Given the description of an element on the screen output the (x, y) to click on. 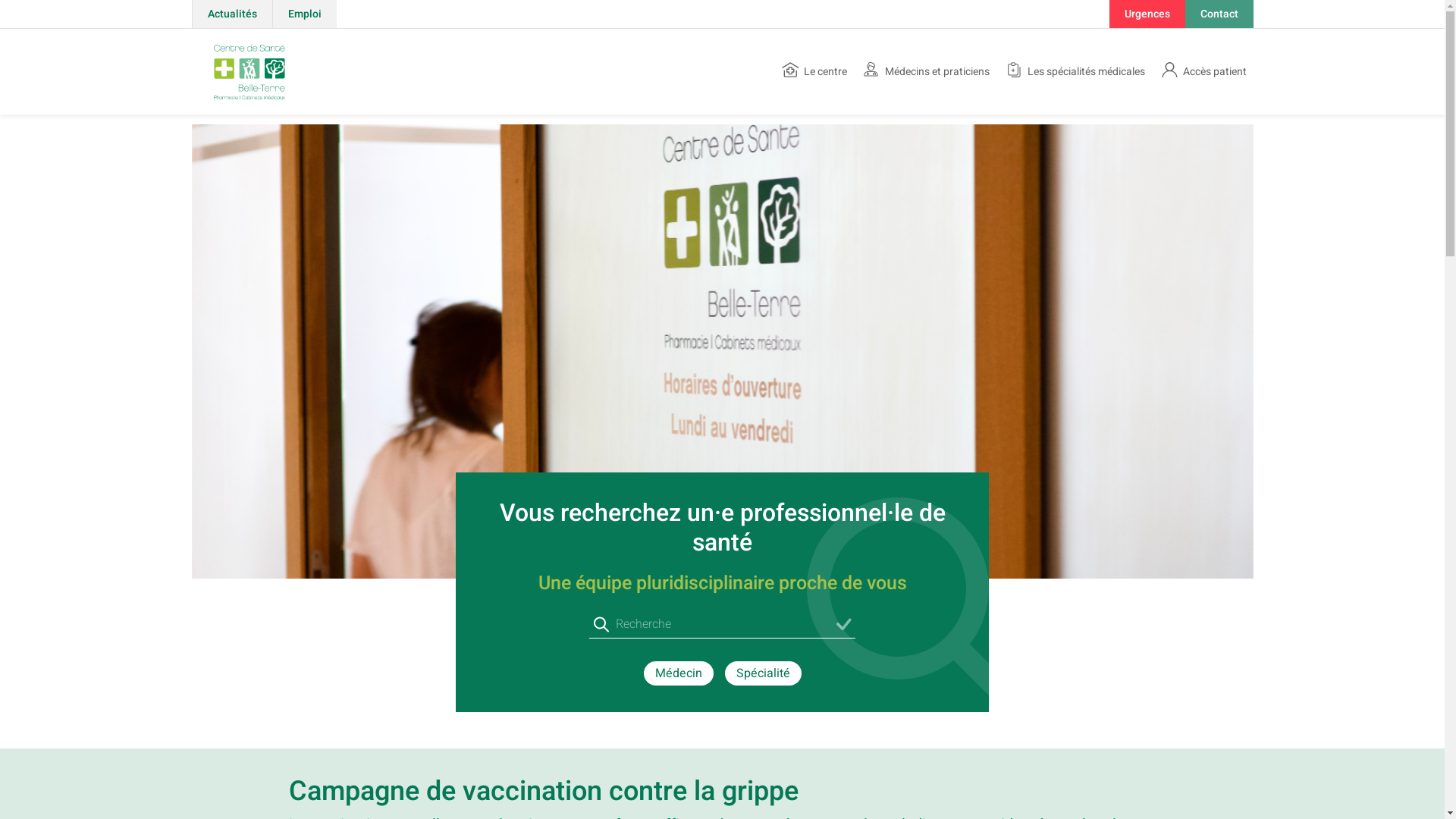
Le centre Element type: text (813, 71)
Contact Element type: text (1218, 14)
Urgences Element type: text (1146, 14)
Emploi Element type: text (303, 14)
